Given the description of an element on the screen output the (x, y) to click on. 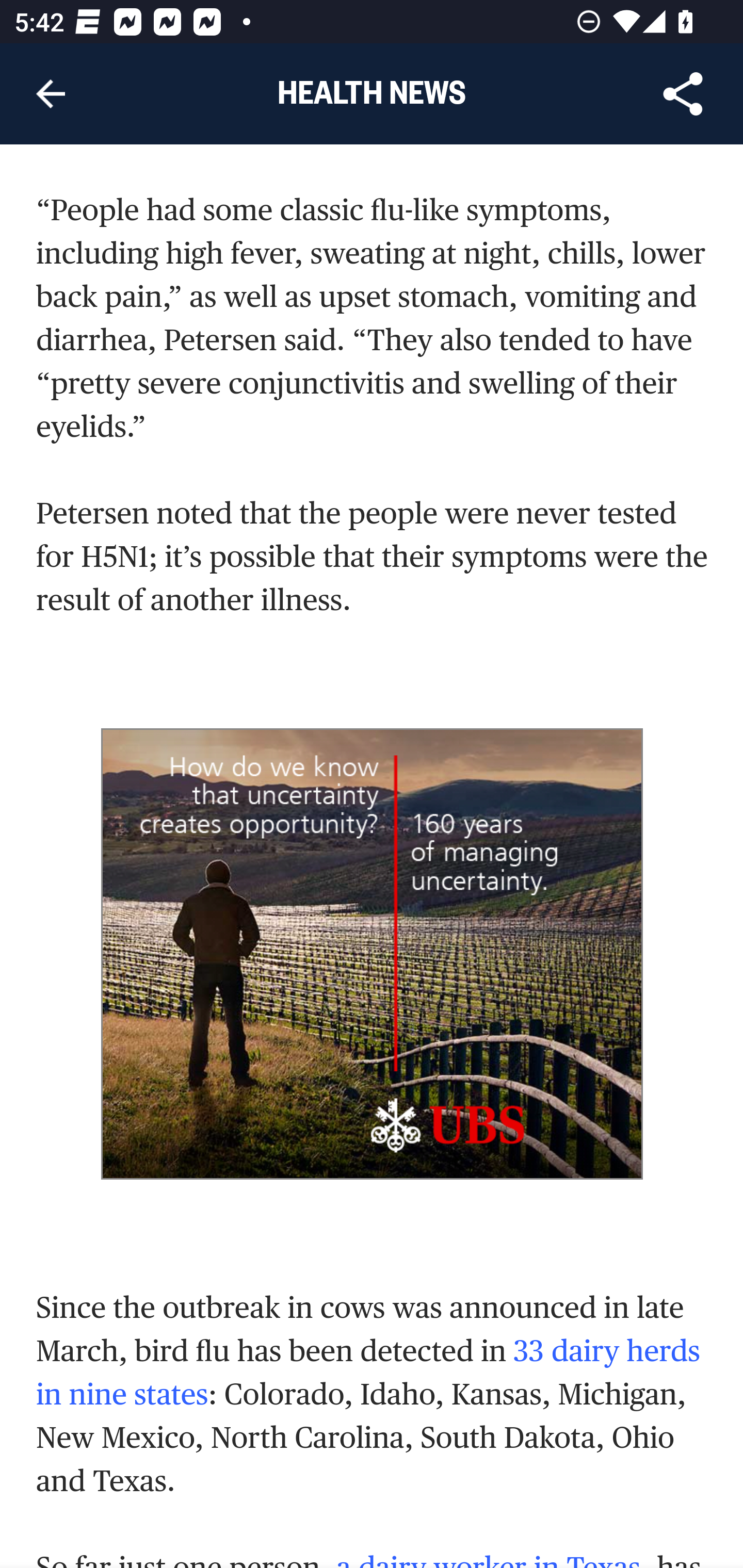
Navigate up (50, 93)
Share Article, button (683, 94)
33 dairy herds in nine states (368, 1373)
